Given the description of an element on the screen output the (x, y) to click on. 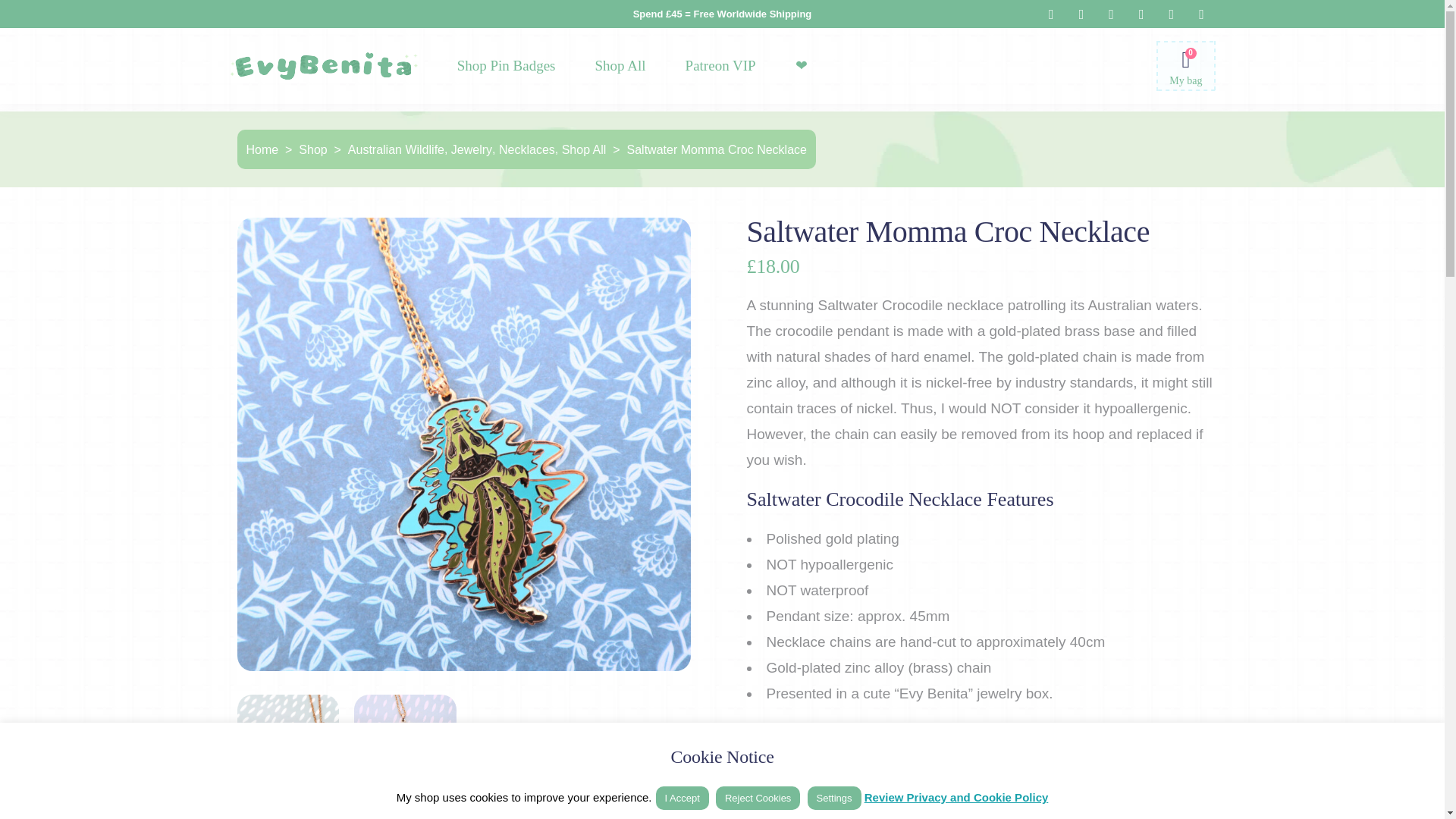
1 (856, 752)
Shop All (620, 65)
Shop Pin Badges (506, 65)
Patreon VIP (720, 65)
